Given the description of an element on the screen output the (x, y) to click on. 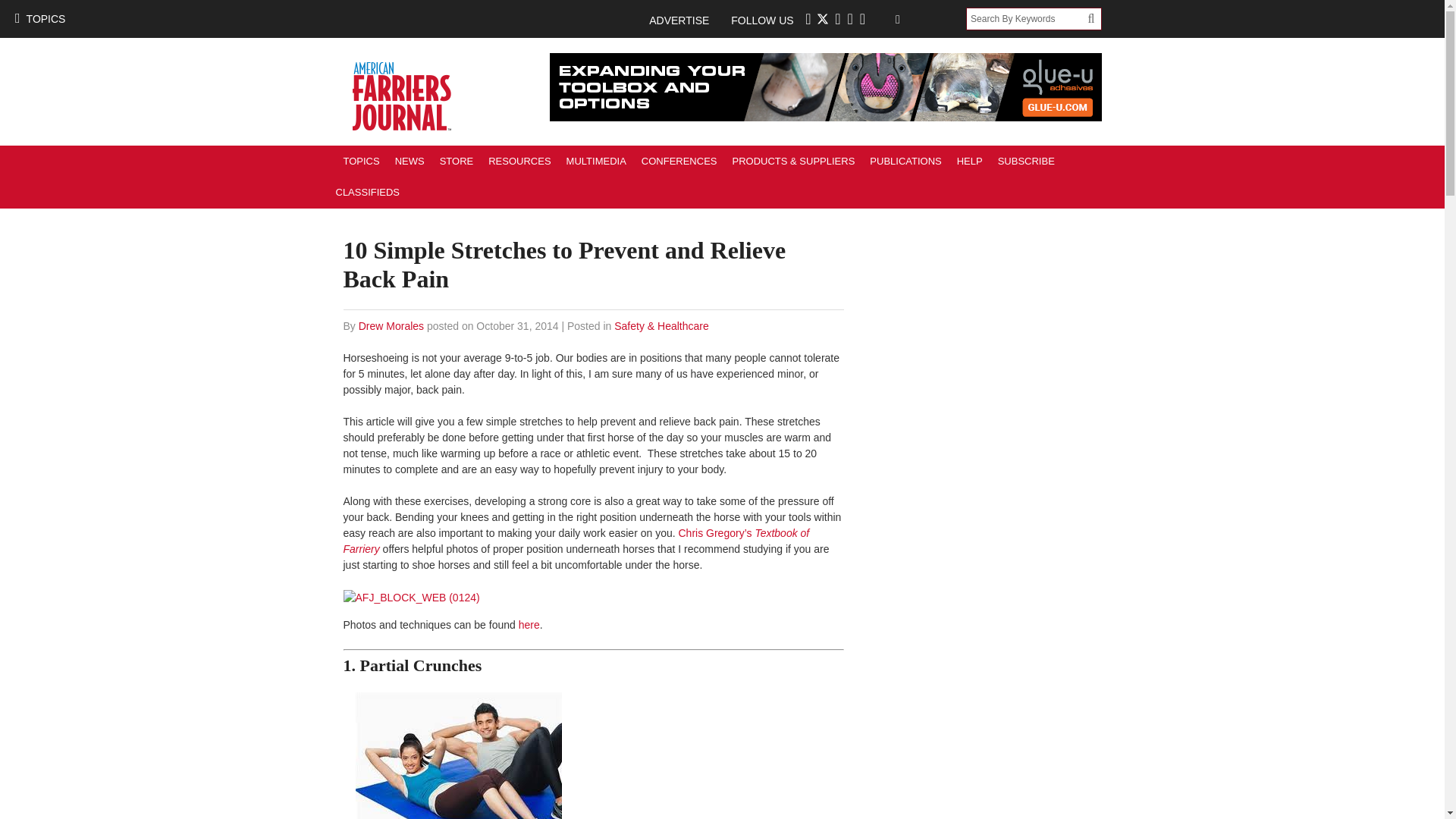
TOPICS (360, 160)
Search By Keywords (1026, 18)
ADVERTISE (686, 20)
Search By Keywords (1026, 18)
TOPICS (39, 18)
